Given the description of an element on the screen output the (x, y) to click on. 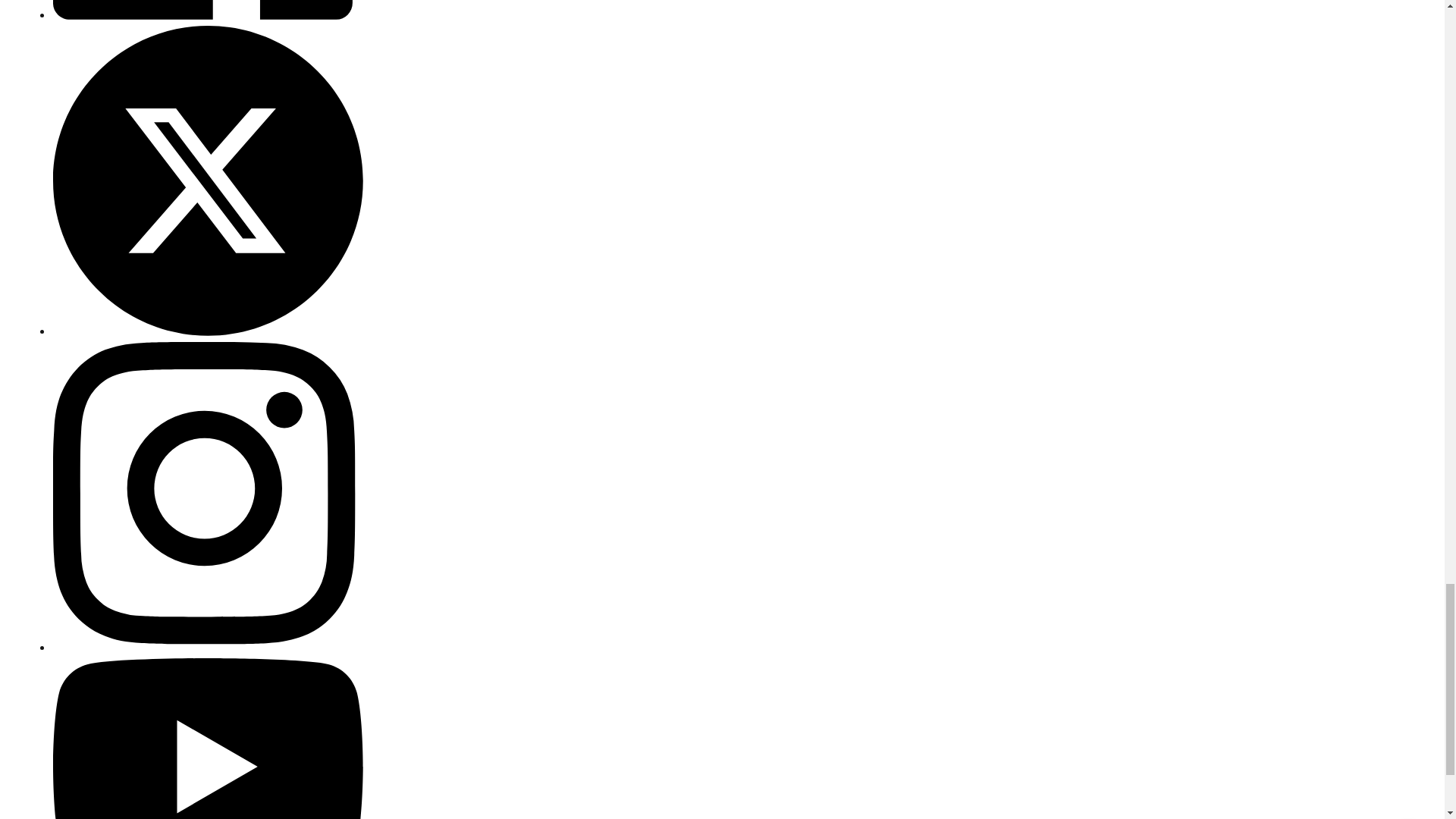
Instagram (207, 647)
Facebook (207, 15)
Twitter (207, 331)
